Given the description of an element on the screen output the (x, y) to click on. 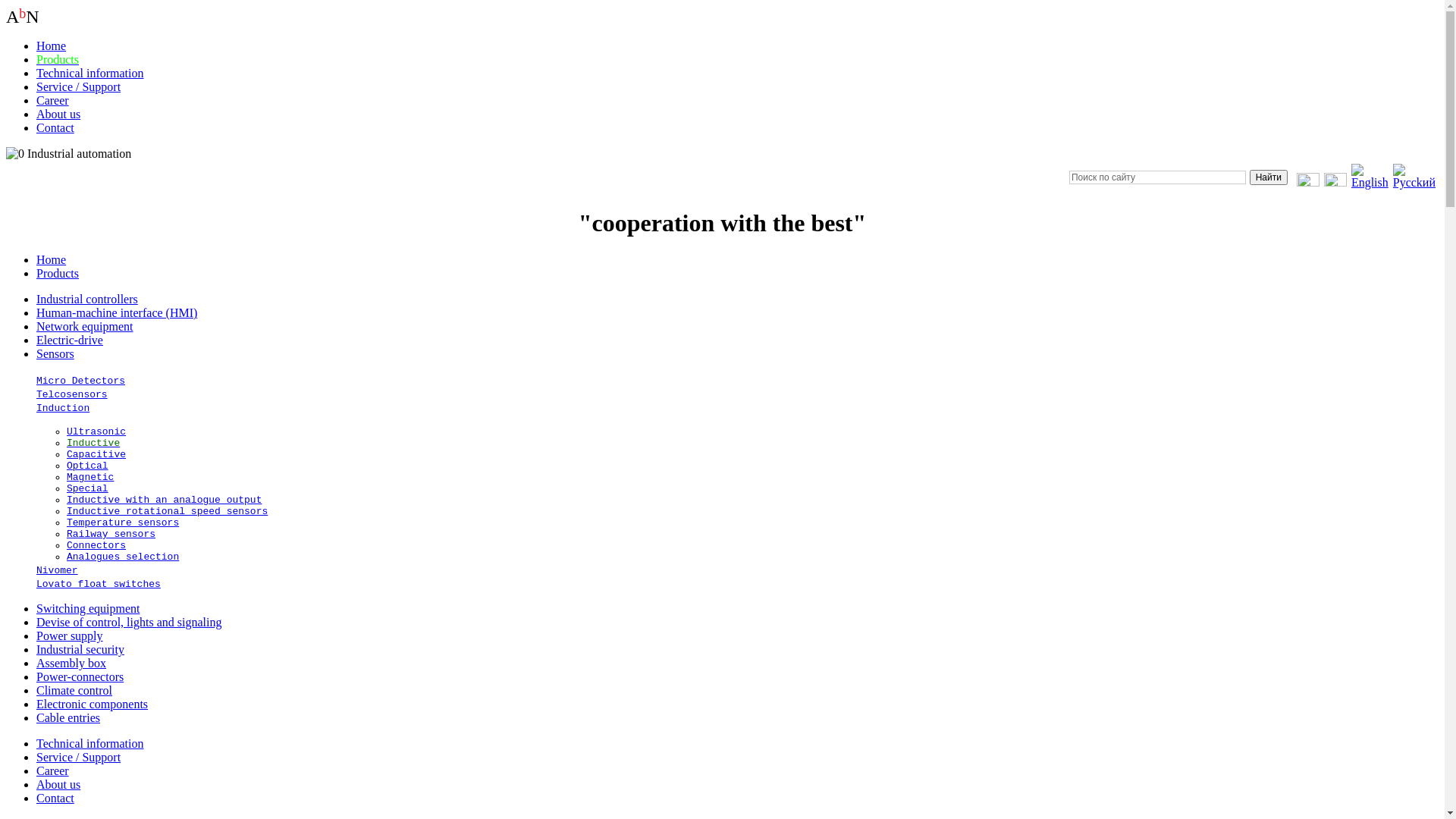
Technical information Element type: text (90, 743)
Nivomer Element type: text (57, 570)
Switching equipment Element type: text (87, 608)
Cable entries Element type: text (68, 717)
Connectors Element type: text (95, 545)
Micro Detectors Element type: text (80, 380)
Power supply Element type: text (69, 635)
Sensors Element type: text (55, 353)
Inductive rotational speed sensors Element type: text (166, 511)
Special Element type: text (87, 488)
Technical information Element type: text (90, 72)
Analogues selection Element type: text (122, 556)
Optical Element type: text (87, 465)
Magnetic Element type: text (89, 477)
Products Element type: text (57, 272)
Telcosensors Element type: text (71, 394)
Electronic components Element type: text (91, 703)
Products Element type: text (57, 59)
Home Element type: text (50, 259)
Railway sensors Element type: text (110, 533)
Capacitive Element type: text (95, 454)
Assembly box Element type: text (71, 662)
Inductive with an analogue output Element type: text (163, 499)
Career Element type: text (52, 100)
Lovato float switches Element type: text (98, 583)
About us Element type: text (58, 784)
Contact Element type: text (55, 127)
Climate control Element type: text (74, 690)
Inductive Element type: text (92, 442)
About us Element type: text (58, 113)
Human-machine interface (HMI) Element type: text (116, 312)
Devise of control, lights and signaling Element type: text (128, 621)
Industrial security Element type: text (80, 649)
Home Element type: text (50, 45)
Induction Element type: text (62, 408)
Industrial controllers Element type: text (87, 298)
Power-connectors Element type: text (79, 676)
Network equipment Element type: text (84, 326)
Service / Support Element type: text (78, 86)
Service / Support Element type: text (78, 756)
Electric-drive Element type: text (69, 339)
Ultrasonic Element type: text (95, 431)
Contact Element type: text (55, 797)
Send message to us Element type: hover (1307, 181)
Temperature sensors Element type: text (122, 522)
Career Element type: text (52, 770)
